Given the description of an element on the screen output the (x, y) to click on. 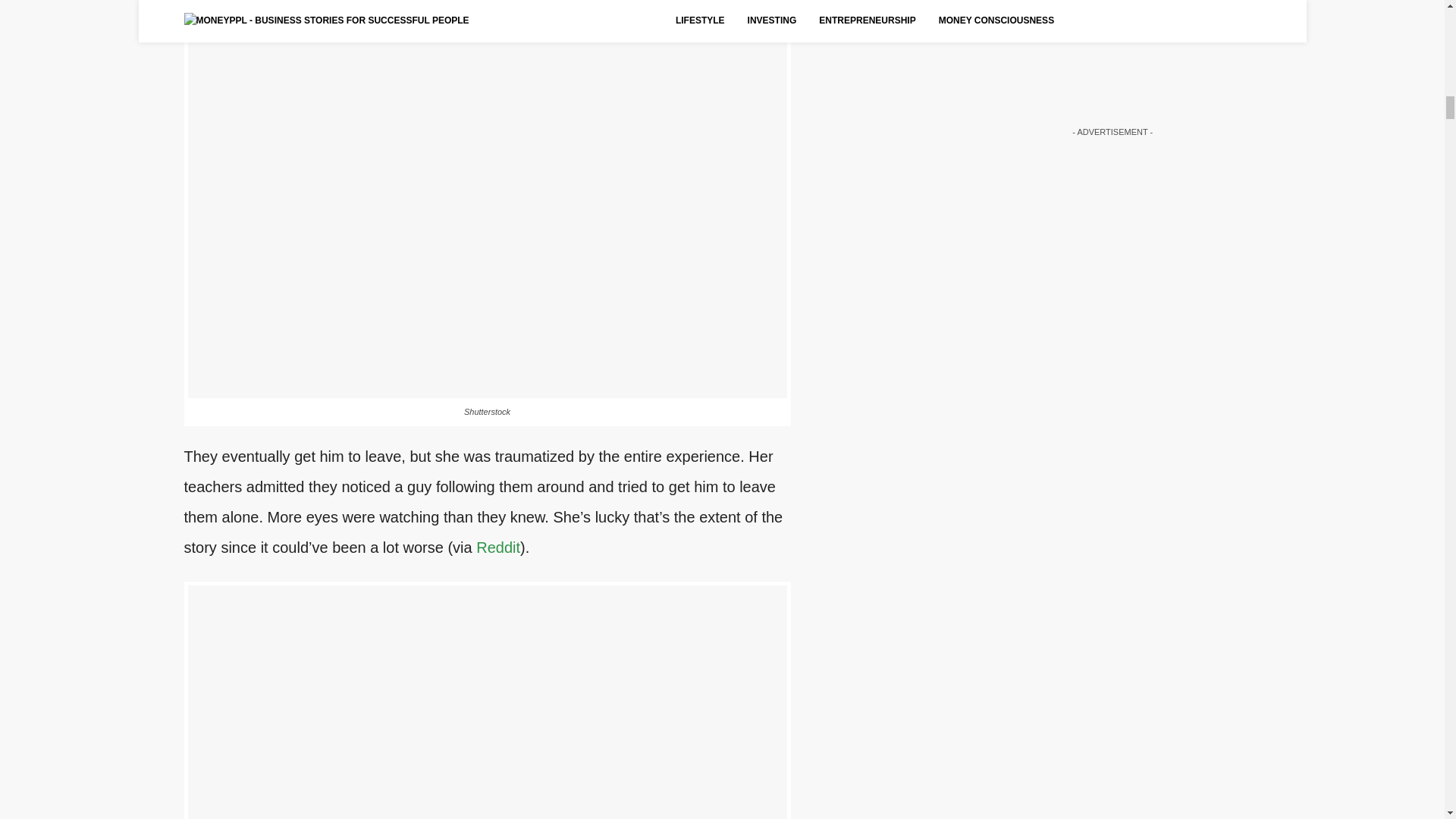
Reddit (497, 547)
